Given the description of an element on the screen output the (x, y) to click on. 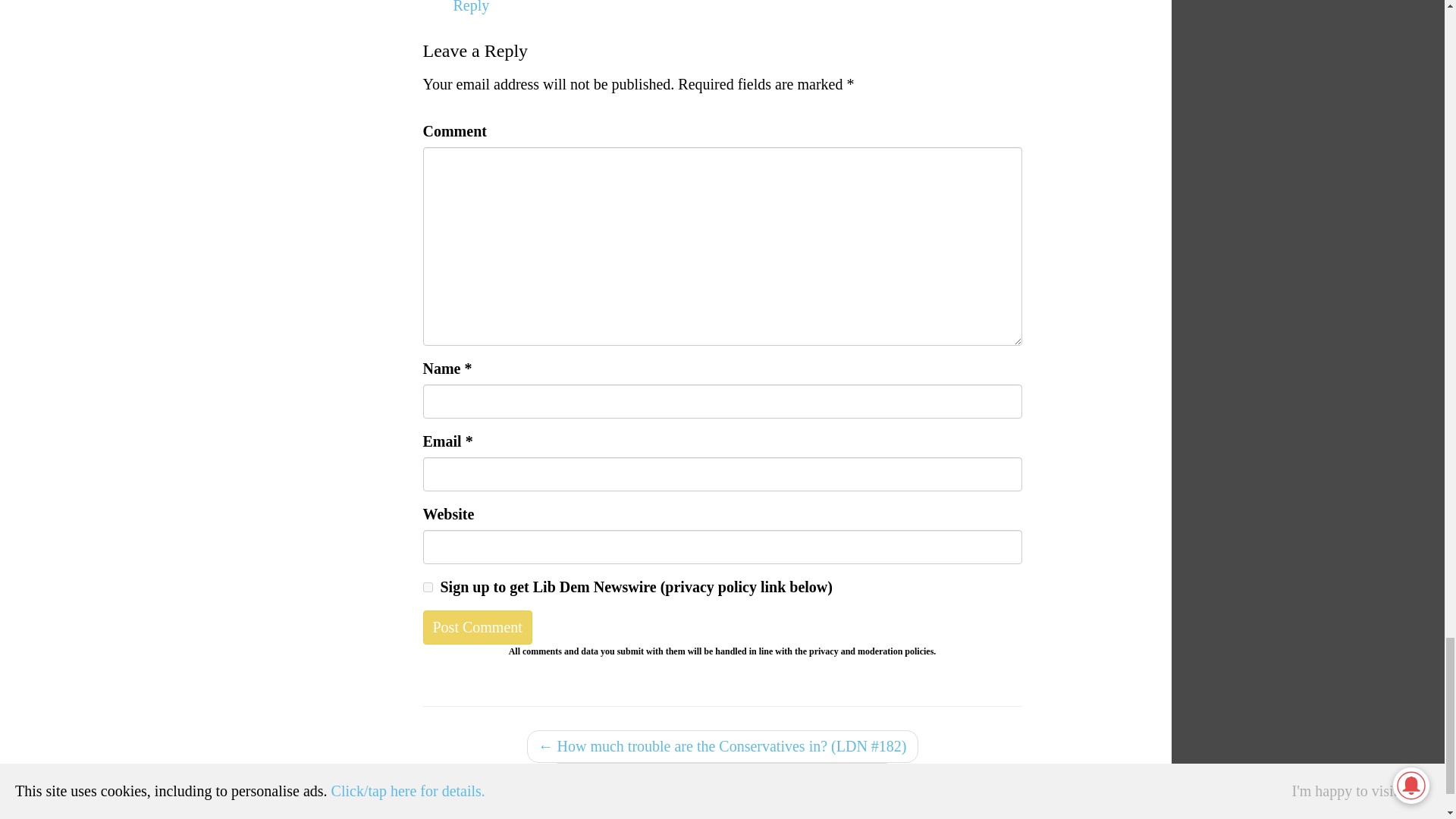
subscribe (427, 587)
Reply (470, 6)
Post Comment (477, 627)
Post Comment (477, 627)
